Given the description of an element on the screen output the (x, y) to click on. 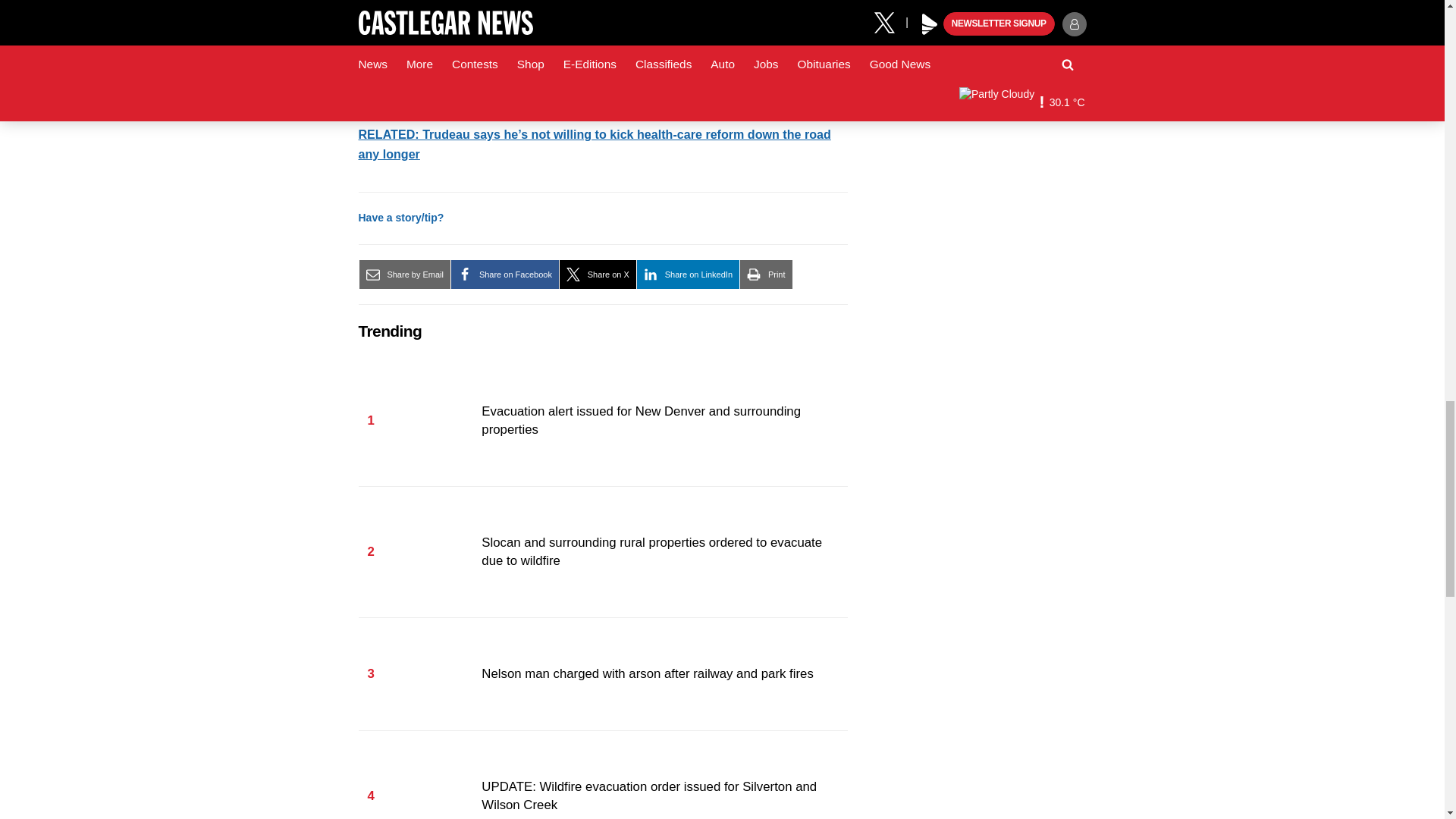
related story (593, 143)
